Given the description of an element on the screen output the (x, y) to click on. 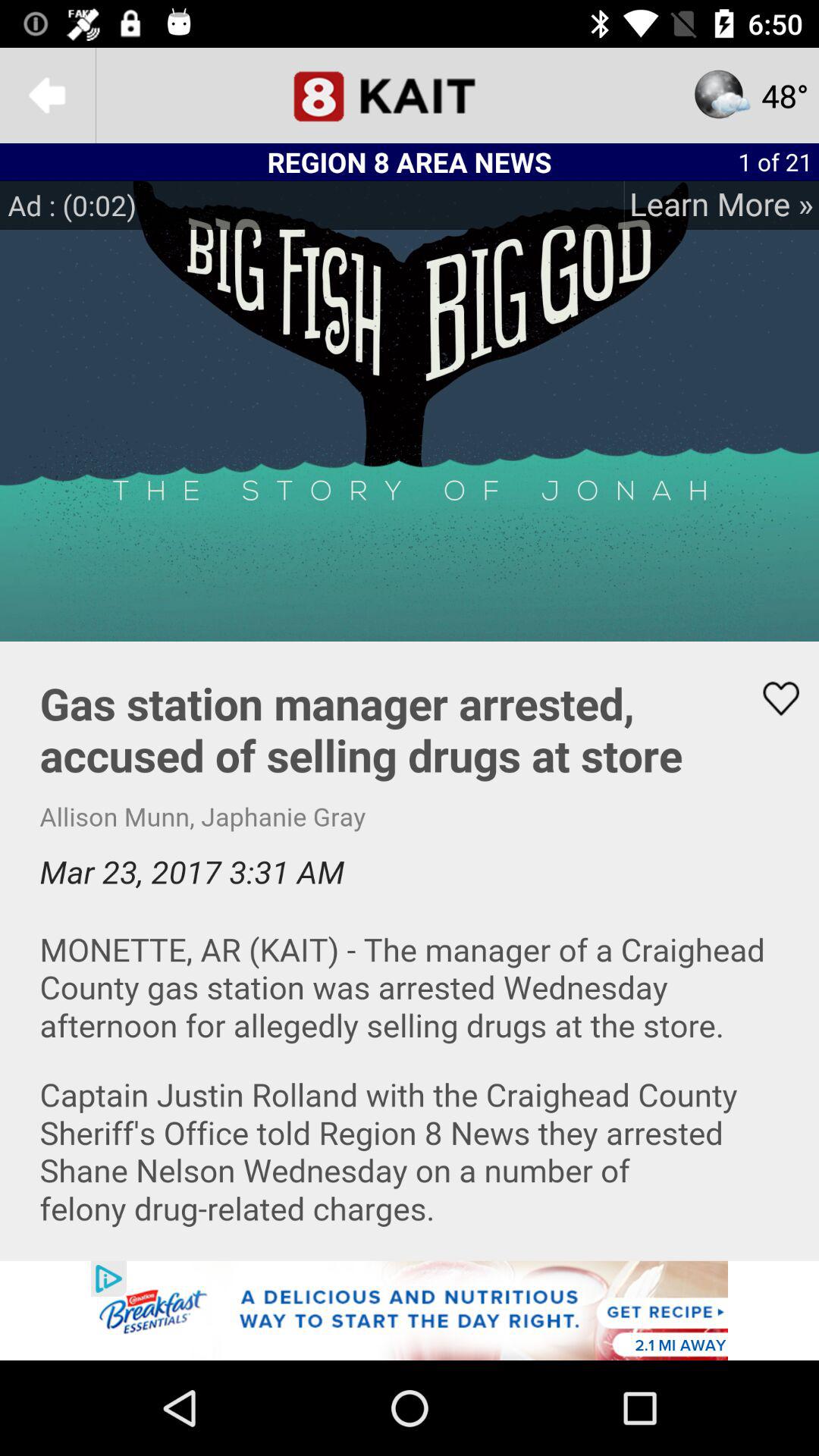
click to the back (47, 95)
